Given the description of an element on the screen output the (x, y) to click on. 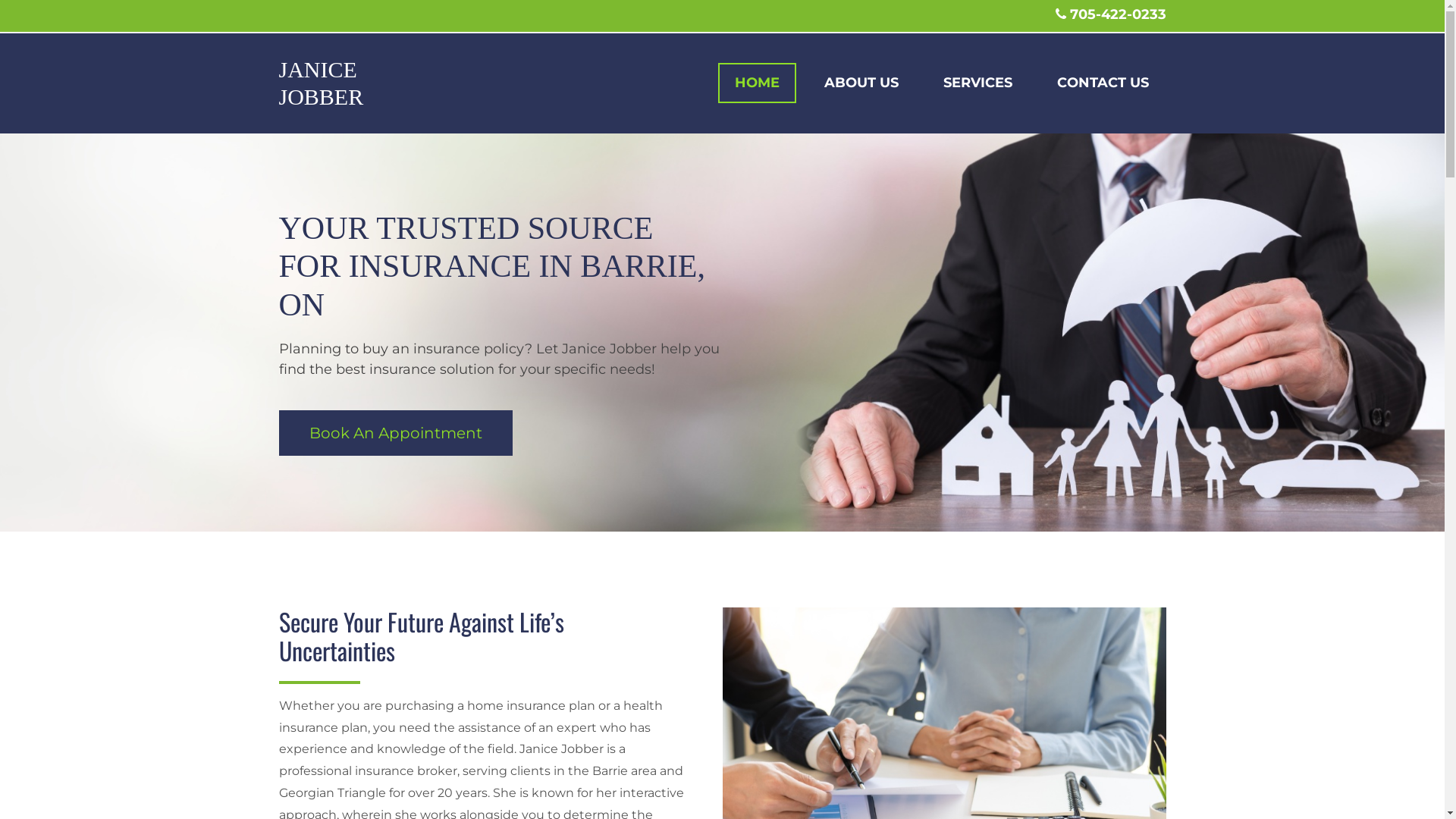
ABOUT US Element type: text (861, 82)
HOME Element type: text (757, 82)
CONTACT US Element type: text (1102, 82)
Book An Appointment Element type: text (395, 432)
SERVICES Element type: text (977, 82)
JANICE JOBBER Element type: text (321, 82)
